Given the description of an element on the screen output the (x, y) to click on. 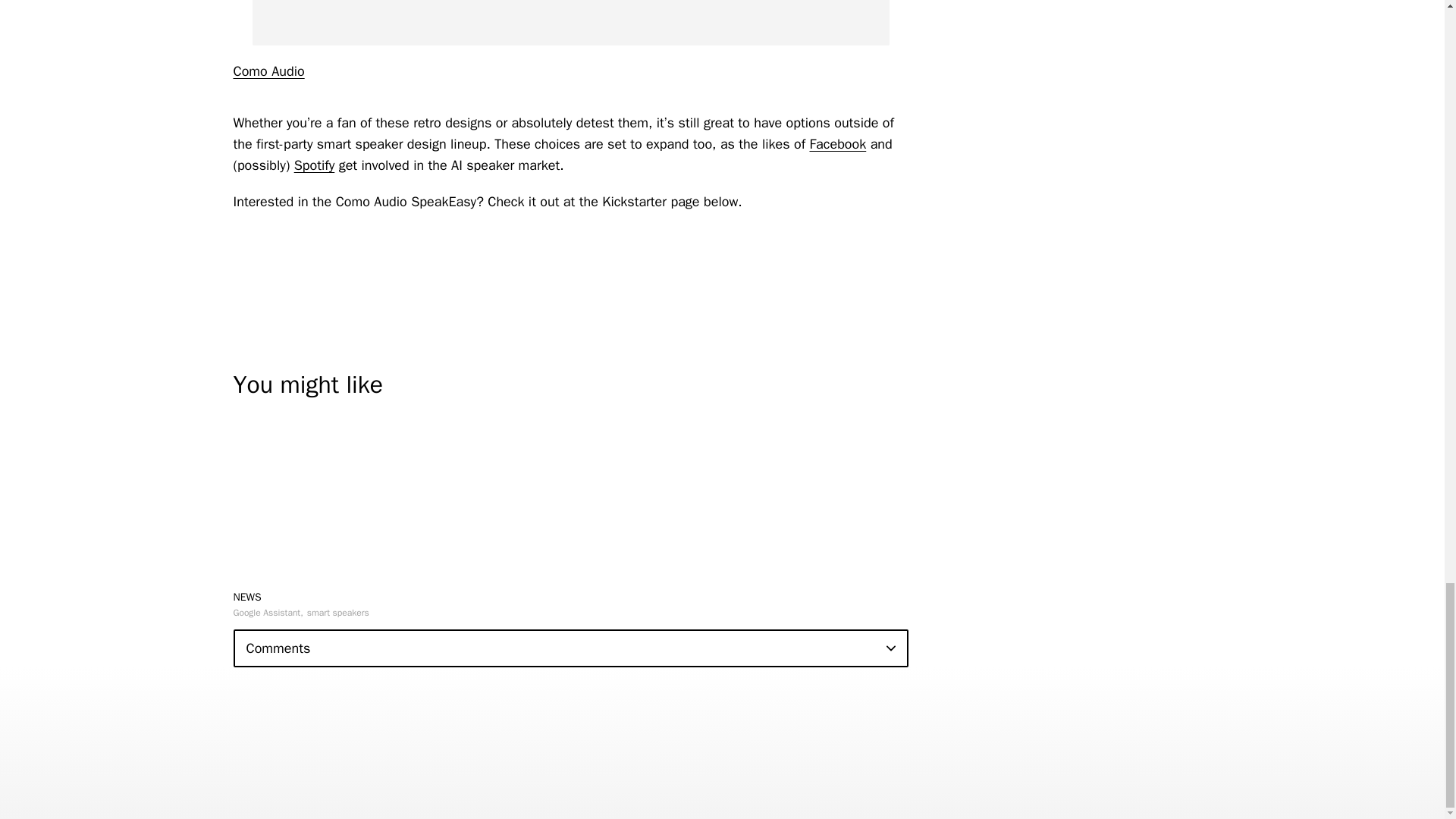
speakeasy speaker bathroom (569, 22)
Comments (570, 648)
NEWS (247, 596)
Como Audio (268, 71)
Google Assistant (267, 612)
Spotify (314, 165)
smart speakers (338, 612)
Facebook (837, 143)
